Given the description of an element on the screen output the (x, y) to click on. 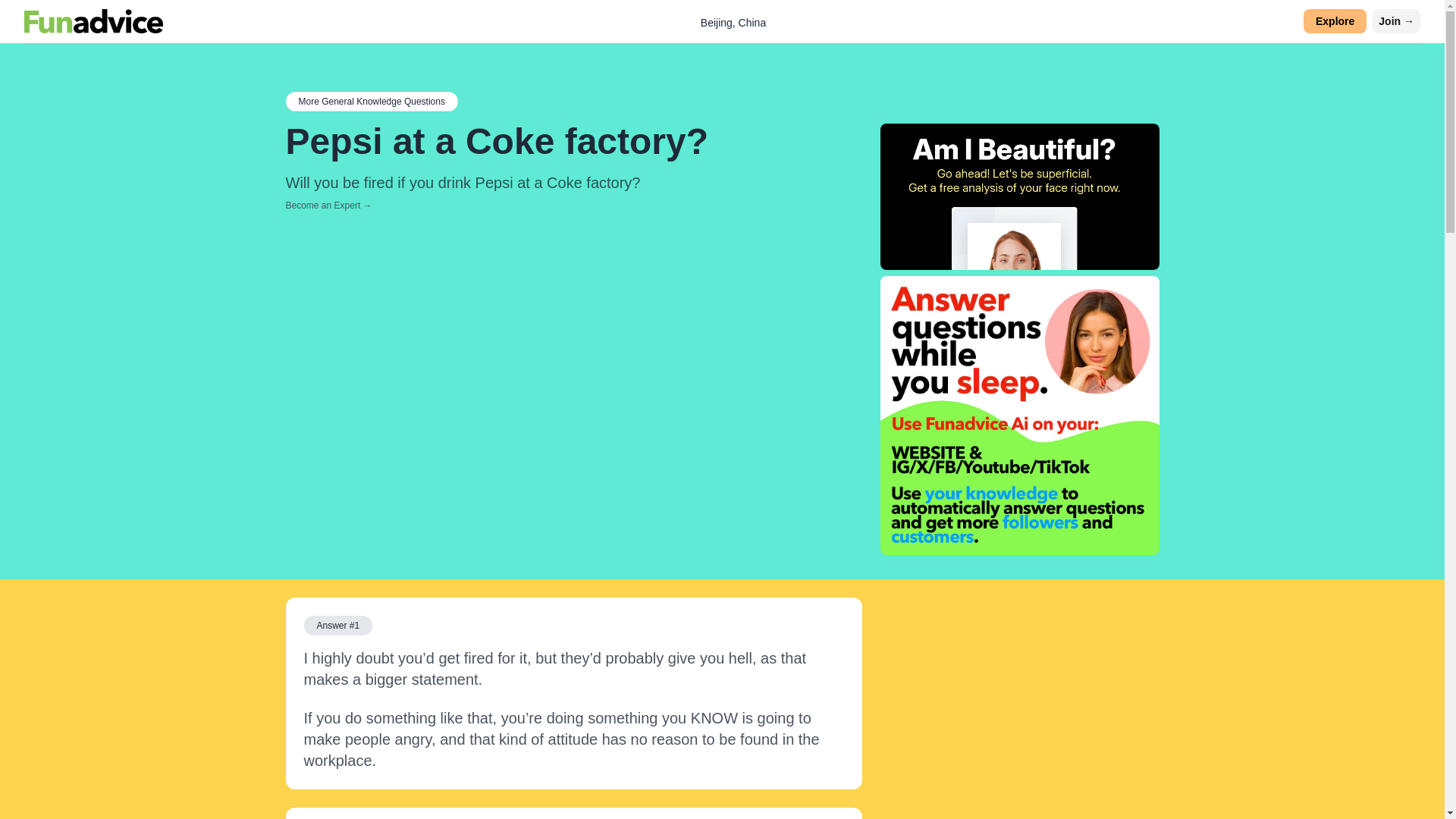
Explore (1335, 21)
Funadvice Home (93, 21)
Beijing, China (732, 22)
General Knowledge Questions (371, 101)
More General Knowledge Questions (371, 101)
